Given the description of an element on the screen output the (x, y) to click on. 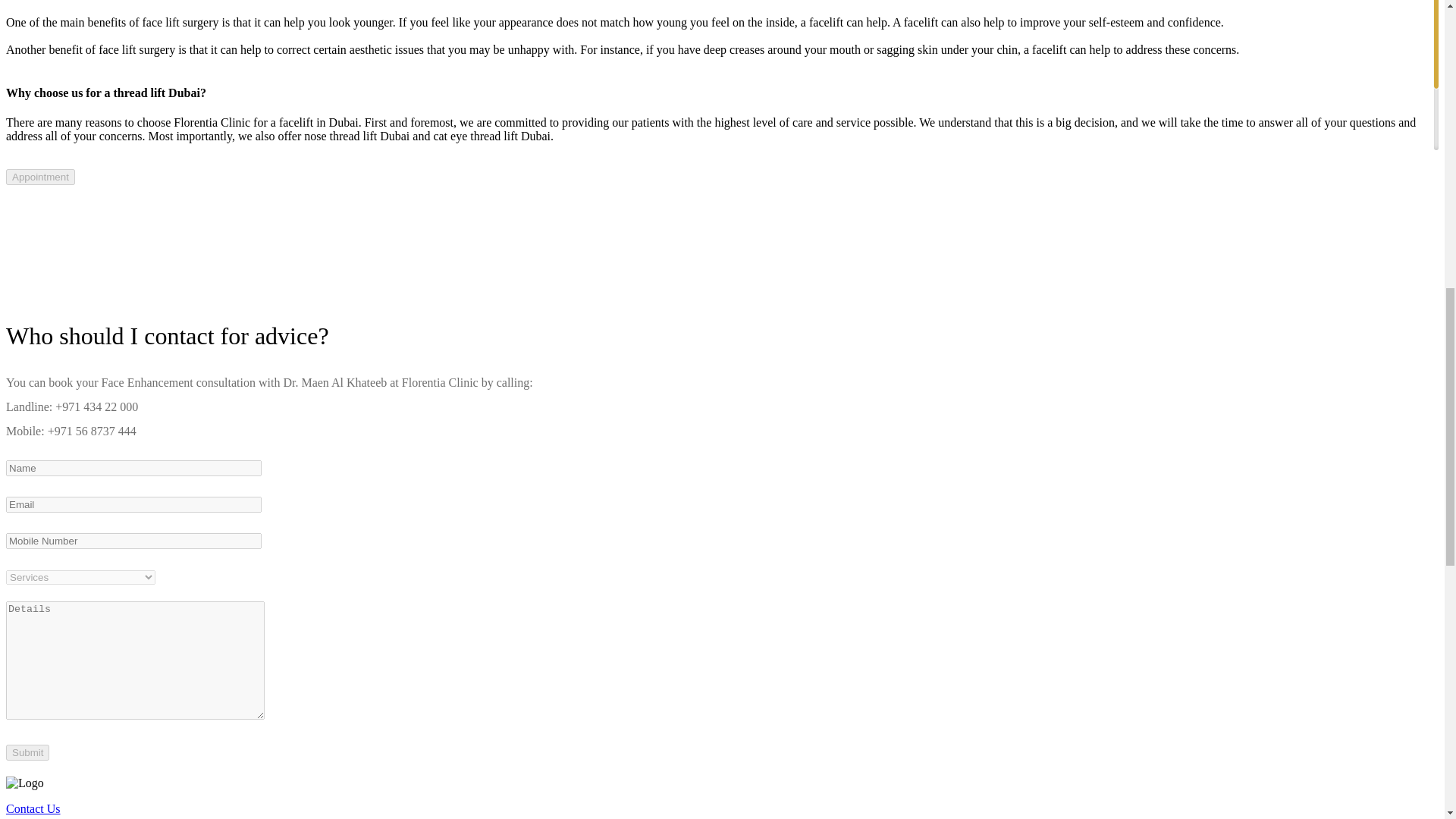
Submit (27, 752)
